Given the description of an element on the screen output the (x, y) to click on. 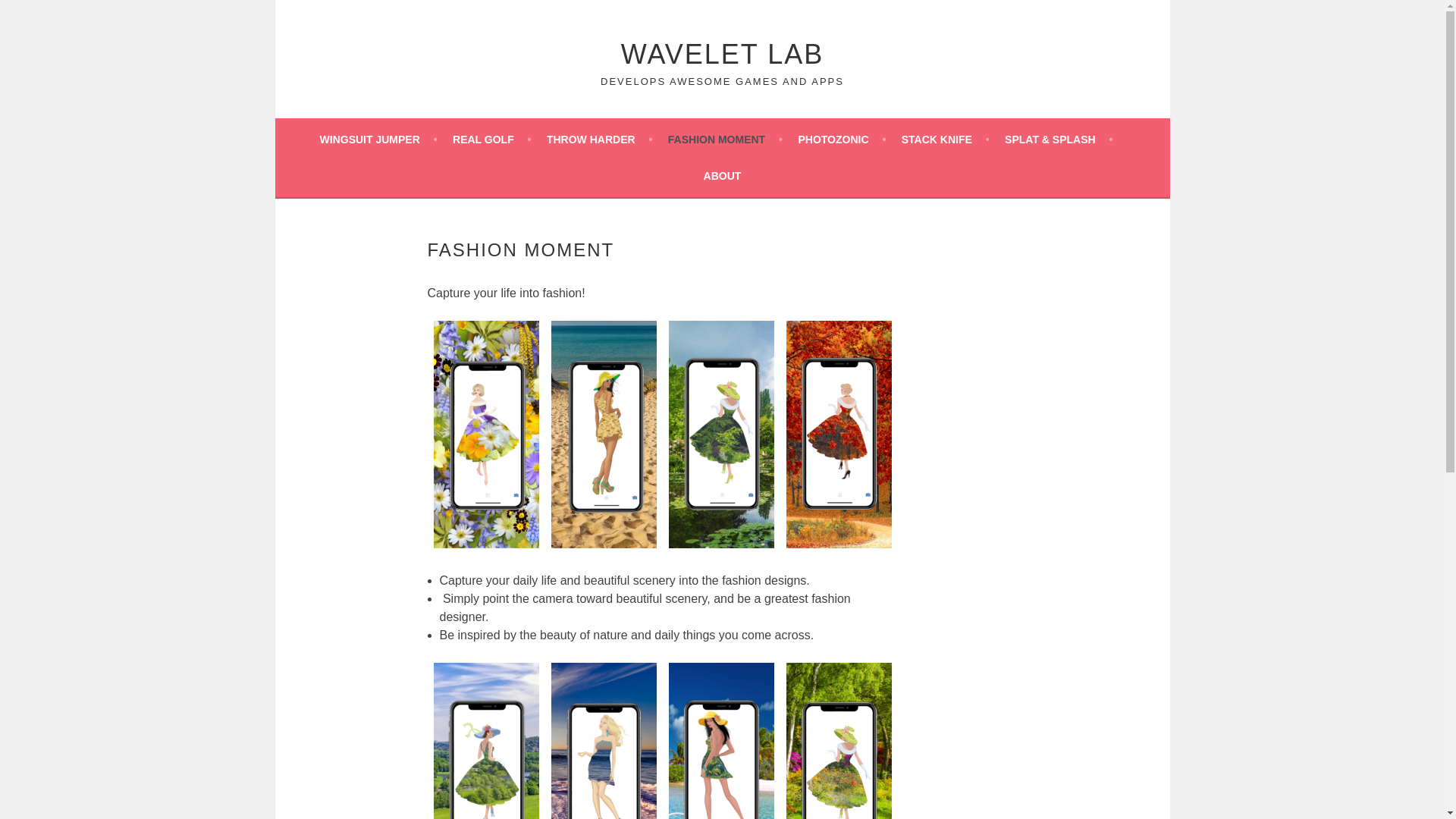
STACK KNIFE (945, 139)
FASHION MOMENT (725, 139)
WINGSUIT JUMPER (379, 139)
ABOUT (722, 176)
THROW HARDER (599, 139)
PHOTOZONIC (841, 139)
Wavelet Lab (722, 53)
WAVELET LAB (722, 53)
REAL GOLF (491, 139)
